Given the description of an element on the screen output the (x, y) to click on. 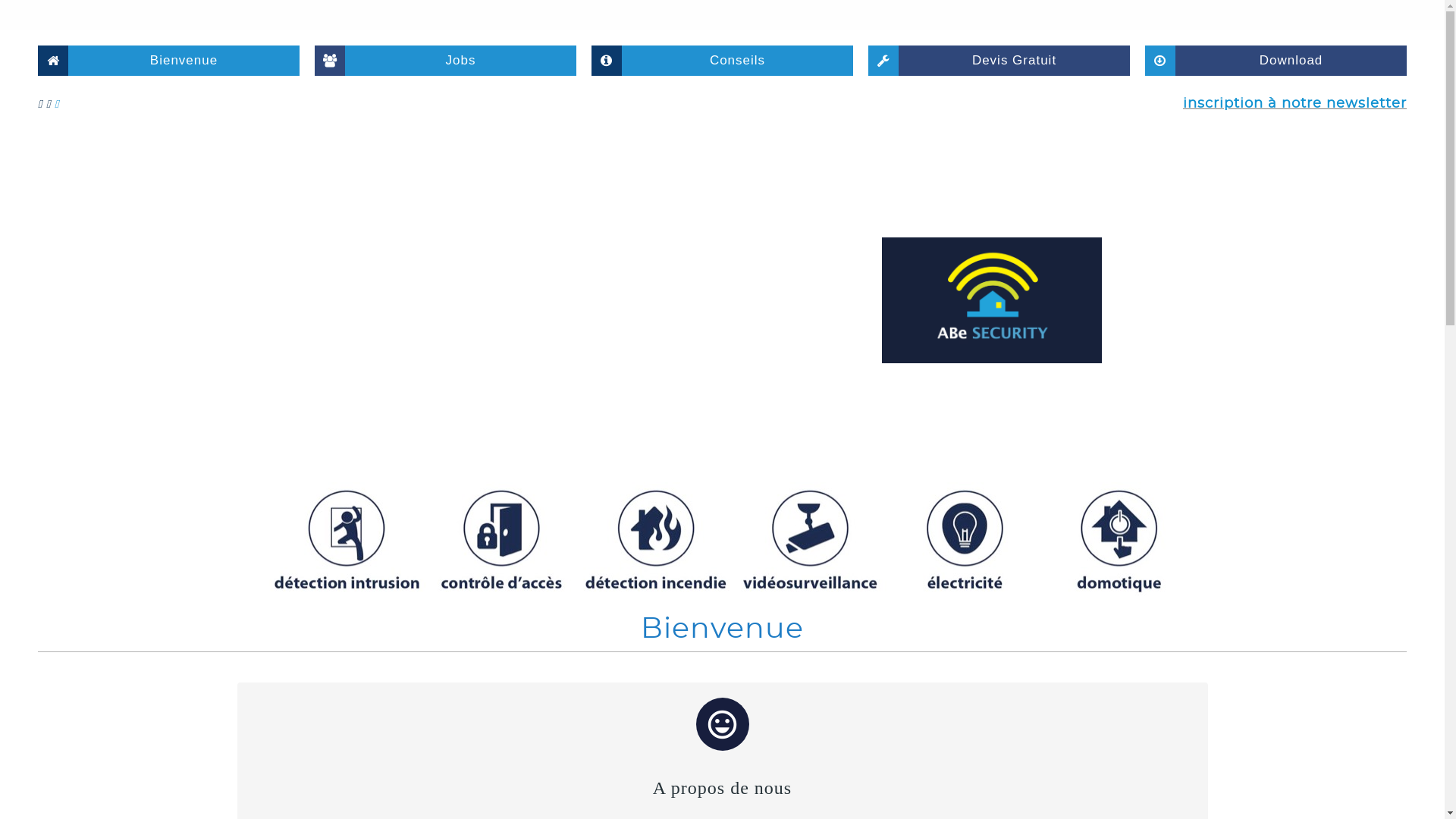
Jobs Element type: text (445, 60)
Download Element type: text (1275, 60)
Conseils Element type: text (722, 60)
Devis Gratuit Element type: text (998, 60)
Bienvenue Element type: text (168, 60)
